Given the description of an element on the screen output the (x, y) to click on. 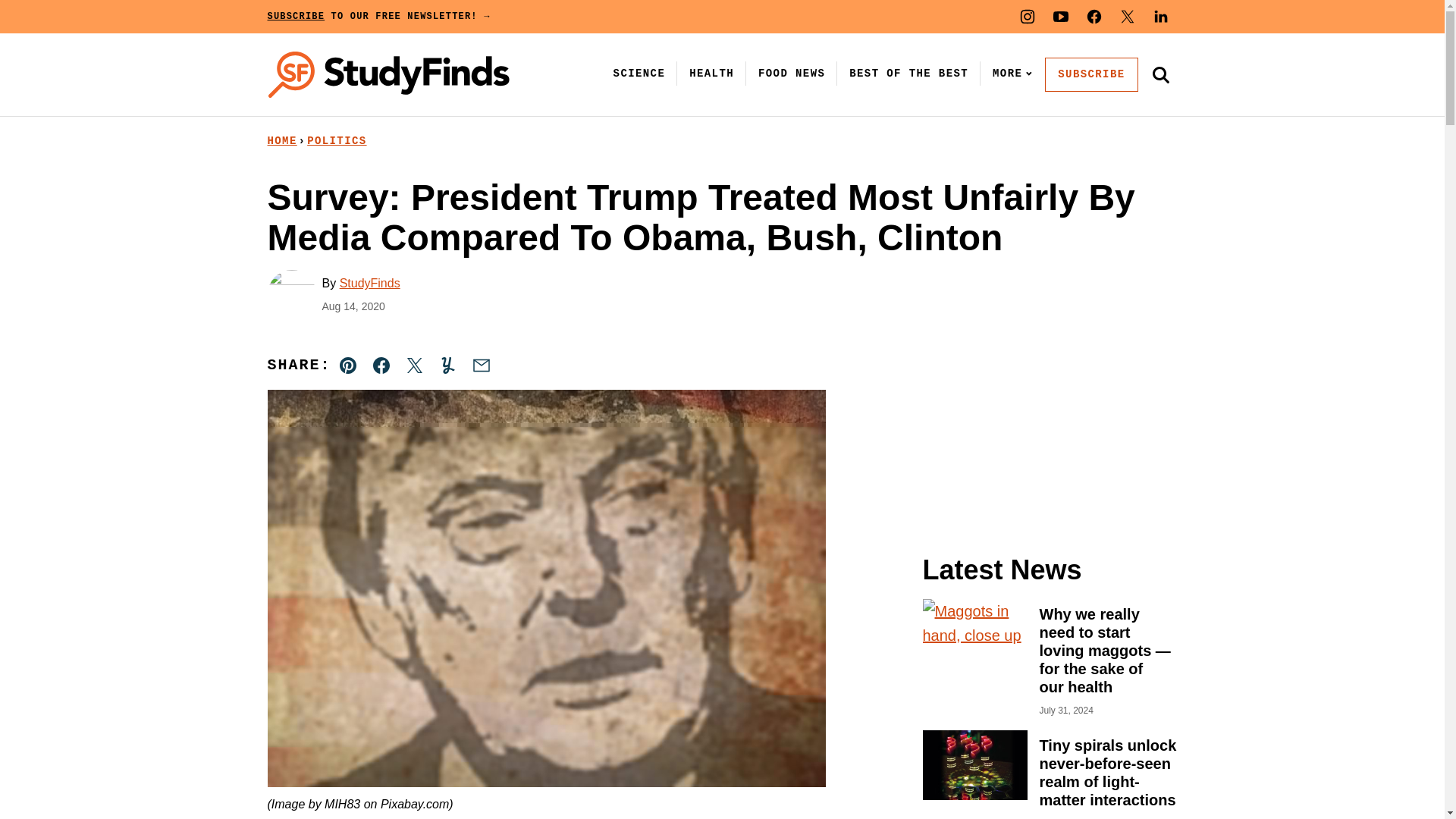
POLITICS (336, 141)
MORE (1009, 73)
Share on Facebook (381, 365)
HEALTH (711, 73)
SUBSCRIBE (1091, 74)
Share on Twitter (413, 365)
FOOD NEWS (791, 73)
Share via Email (480, 365)
SCIENCE (639, 73)
BEST OF THE BEST (908, 73)
Share on Yummly (447, 365)
Share on Pinterest (348, 365)
HOME (281, 141)
